Given the description of an element on the screen output the (x, y) to click on. 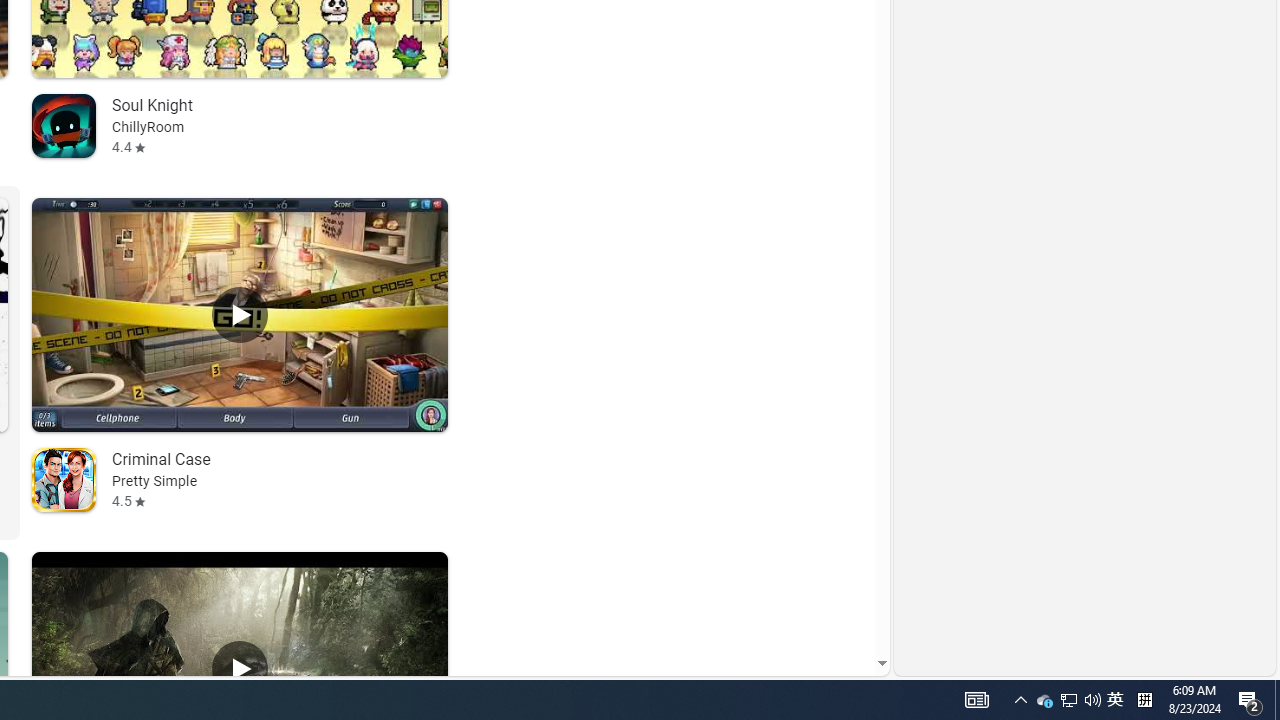
Play Criminal Case (239, 315)
Play Cover Fire: Offline Shooting (239, 668)
